Given the description of an element on the screen output the (x, y) to click on. 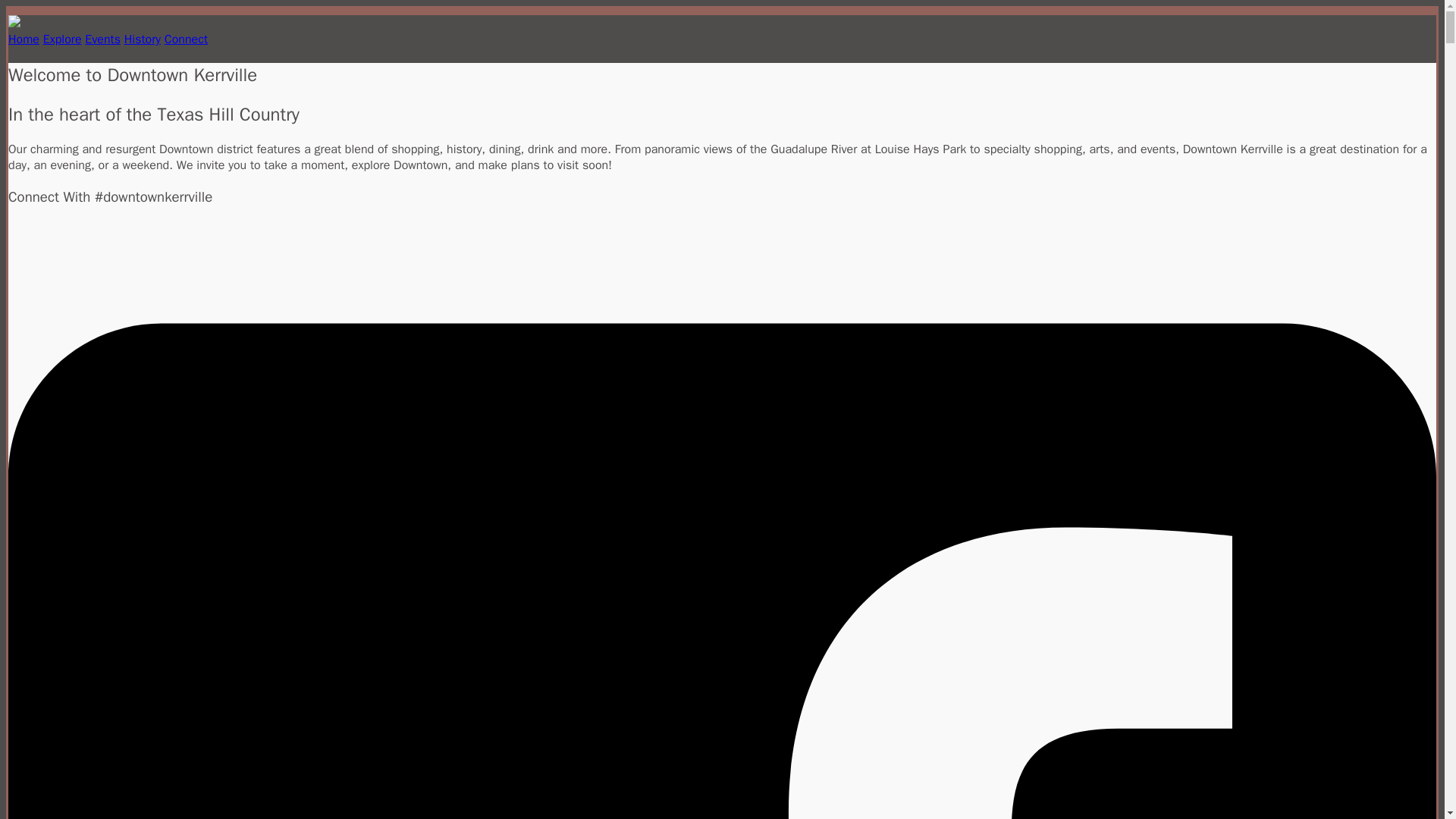
History (141, 38)
Events (102, 38)
Explore (62, 38)
Home (23, 38)
Connect (186, 38)
